Given the description of an element on the screen output the (x, y) to click on. 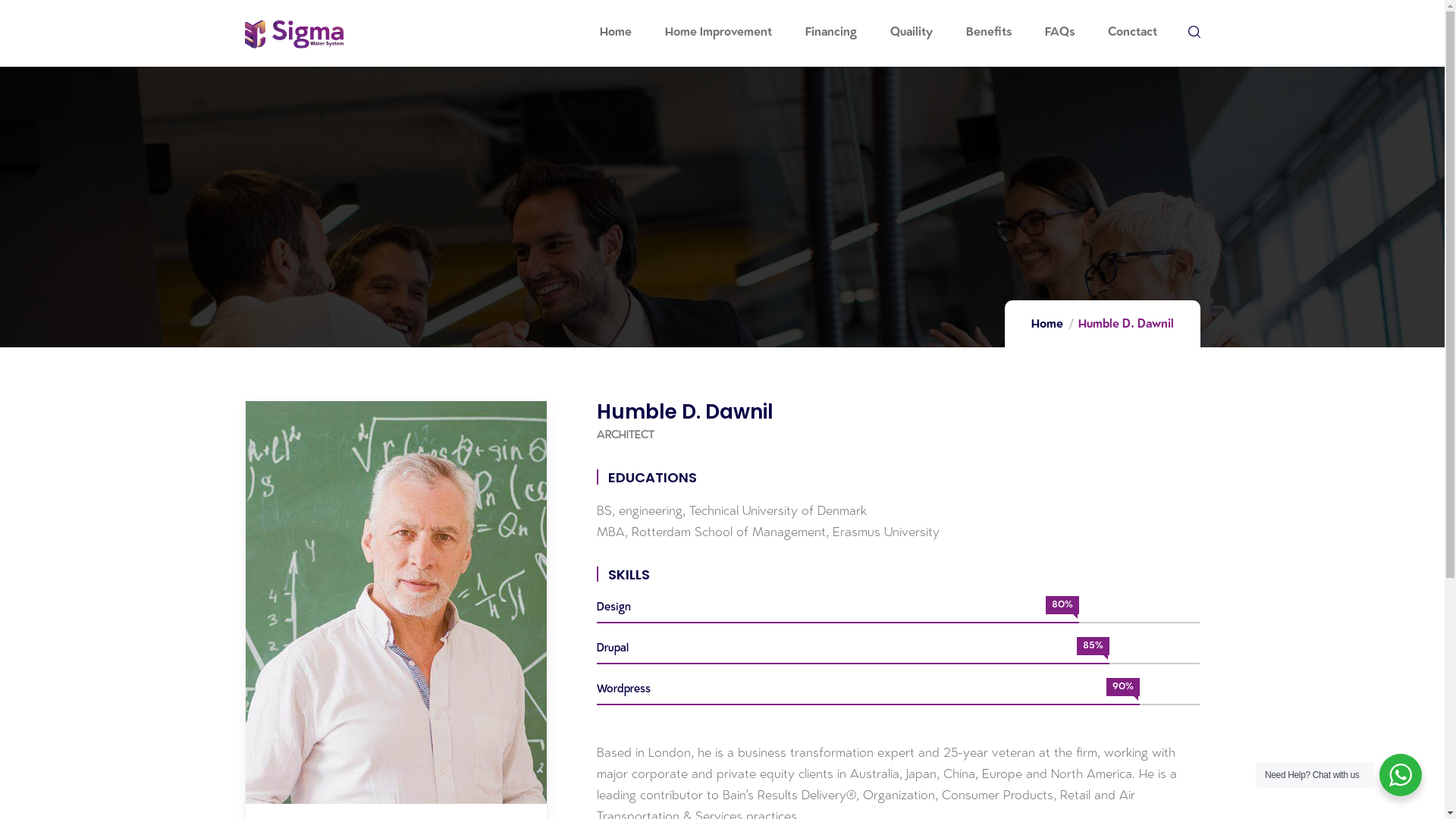
FAQs Element type: text (1059, 33)
Conctact Element type: text (1131, 33)
Financing Element type: text (830, 33)
Quaility Element type: text (911, 33)
Home Element type: text (614, 33)
Home Element type: text (1047, 324)
Benefits Element type: text (988, 33)
Home Improvement Element type: text (717, 33)
